Given the description of an element on the screen output the (x, y) to click on. 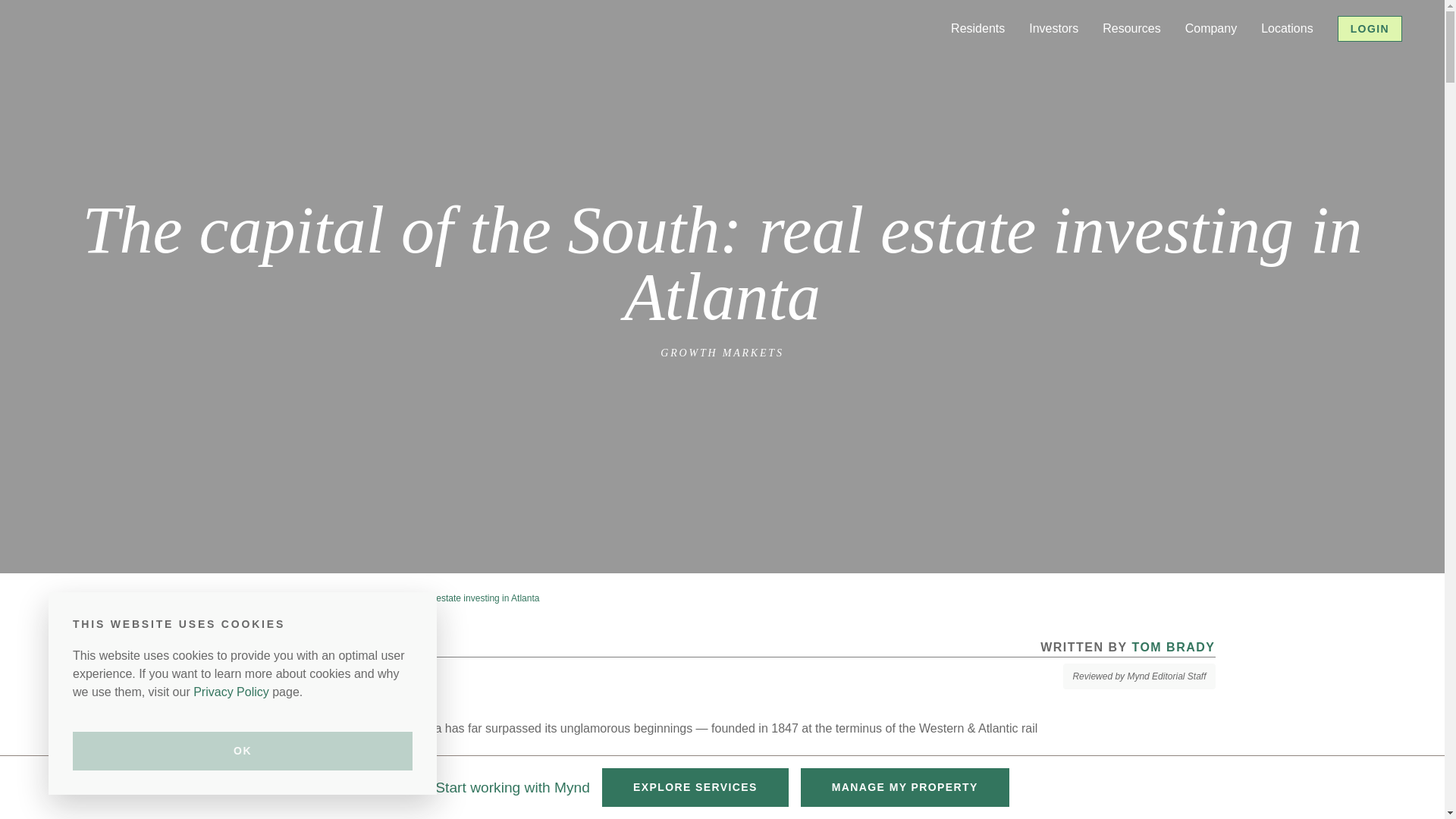
Mynd (90, 28)
Tucson (664, 60)
San Francisco - Bay Area (713, 60)
Consumer Insights Report (1190, 69)
Knowledge Center (1183, 60)
Rental Return Calculator (1360, 69)
CALIFORNIA (687, 58)
Contact Us (1245, 60)
Get help (1004, 60)
Property management (1119, 60)
Asset Management (1293, 60)
Phoenix (666, 60)
Resources (1131, 28)
Insure a property (1105, 60)
Resident login (1019, 60)
